Given the description of an element on the screen output the (x, y) to click on. 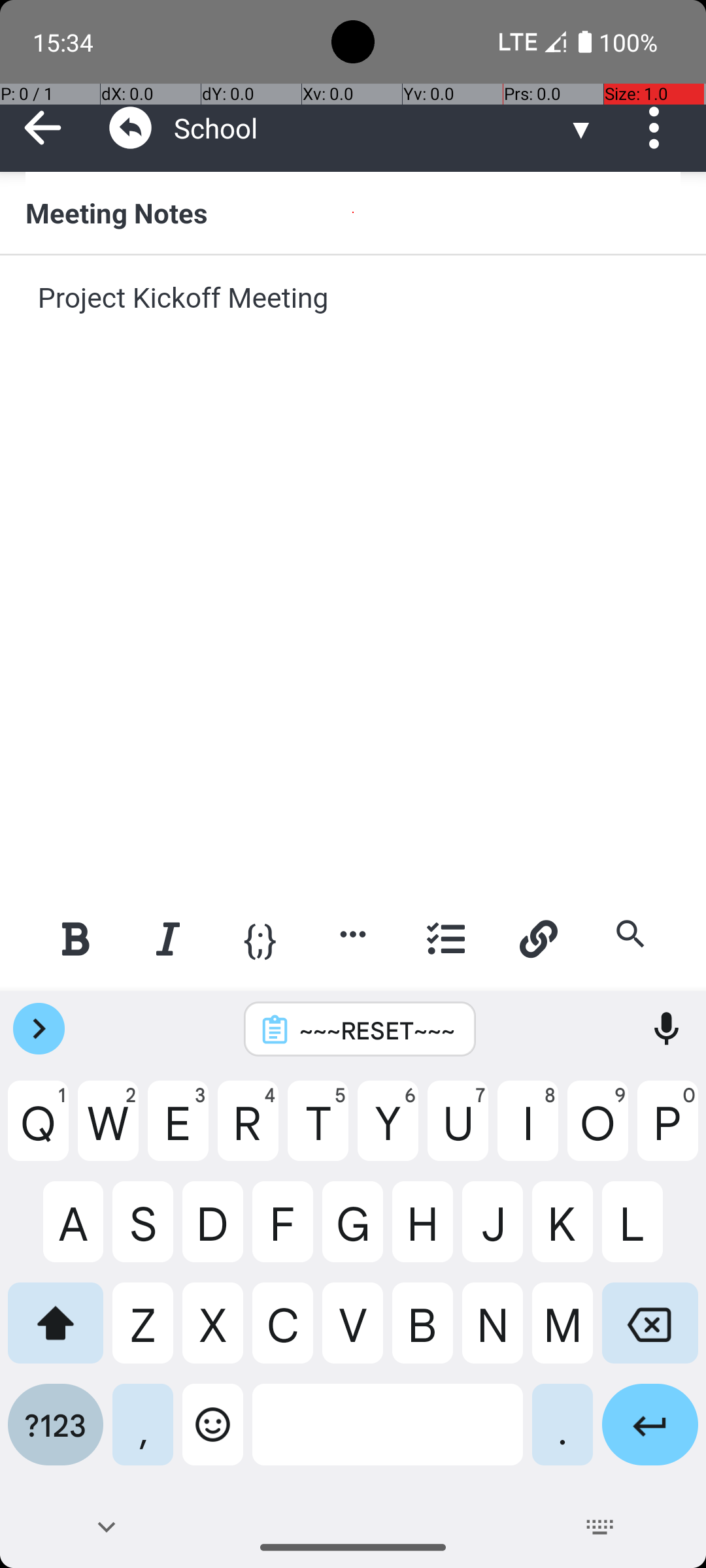
Project Kickoff Meeting
 Element type: android.widget.EditText (354, 317)
